Given the description of an element on the screen output the (x, y) to click on. 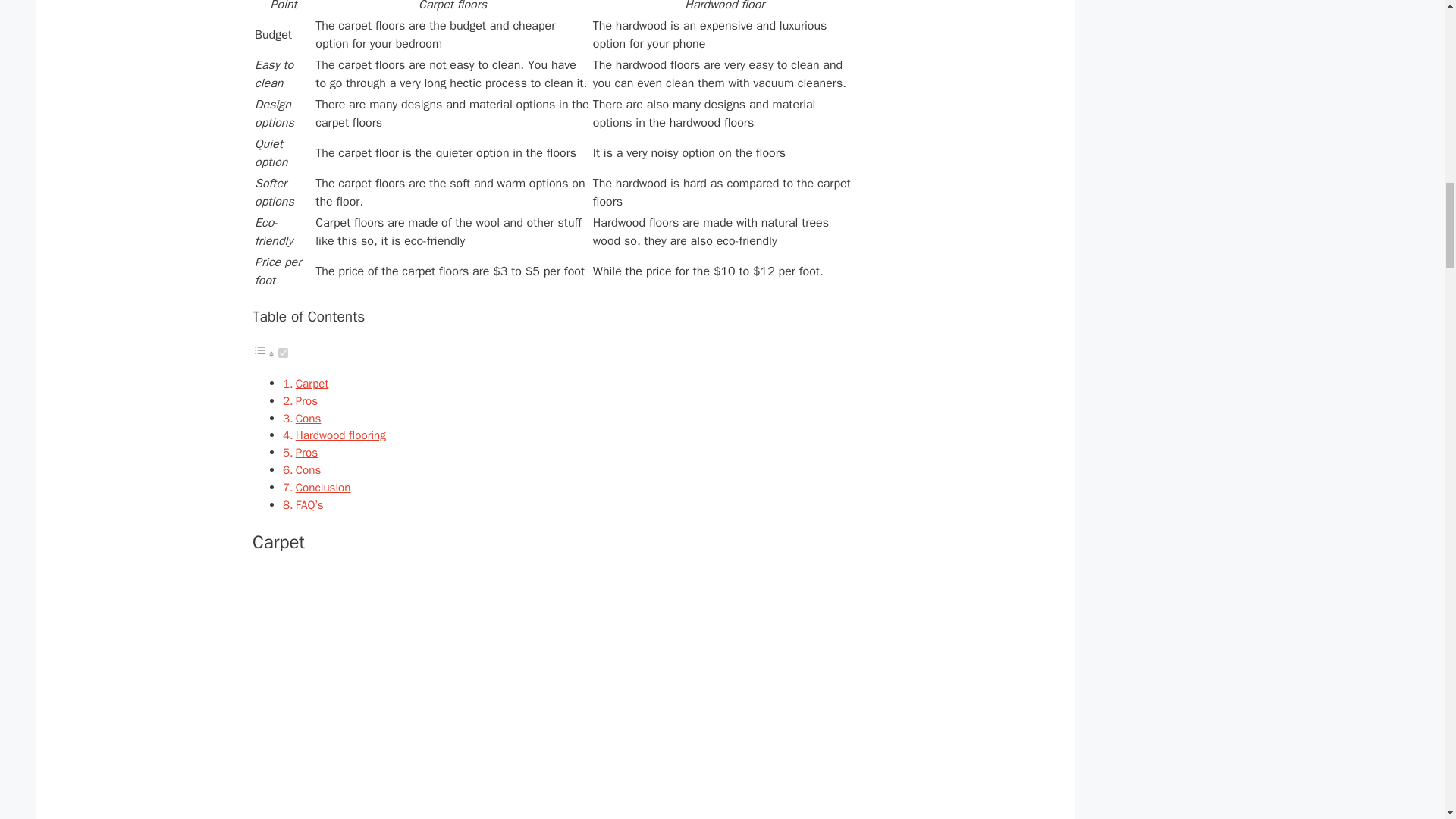
Pros (306, 400)
Pros (306, 452)
Pros (306, 452)
Cons (308, 469)
on (283, 352)
Hardwood flooring (340, 435)
Hardwood flooring (340, 435)
Carpet (312, 383)
Carpet (312, 383)
Cons (308, 418)
Cons (308, 418)
Cons (308, 469)
Conclusion (322, 487)
Pros (306, 400)
Conclusion (322, 487)
